Given the description of an element on the screen output the (x, y) to click on. 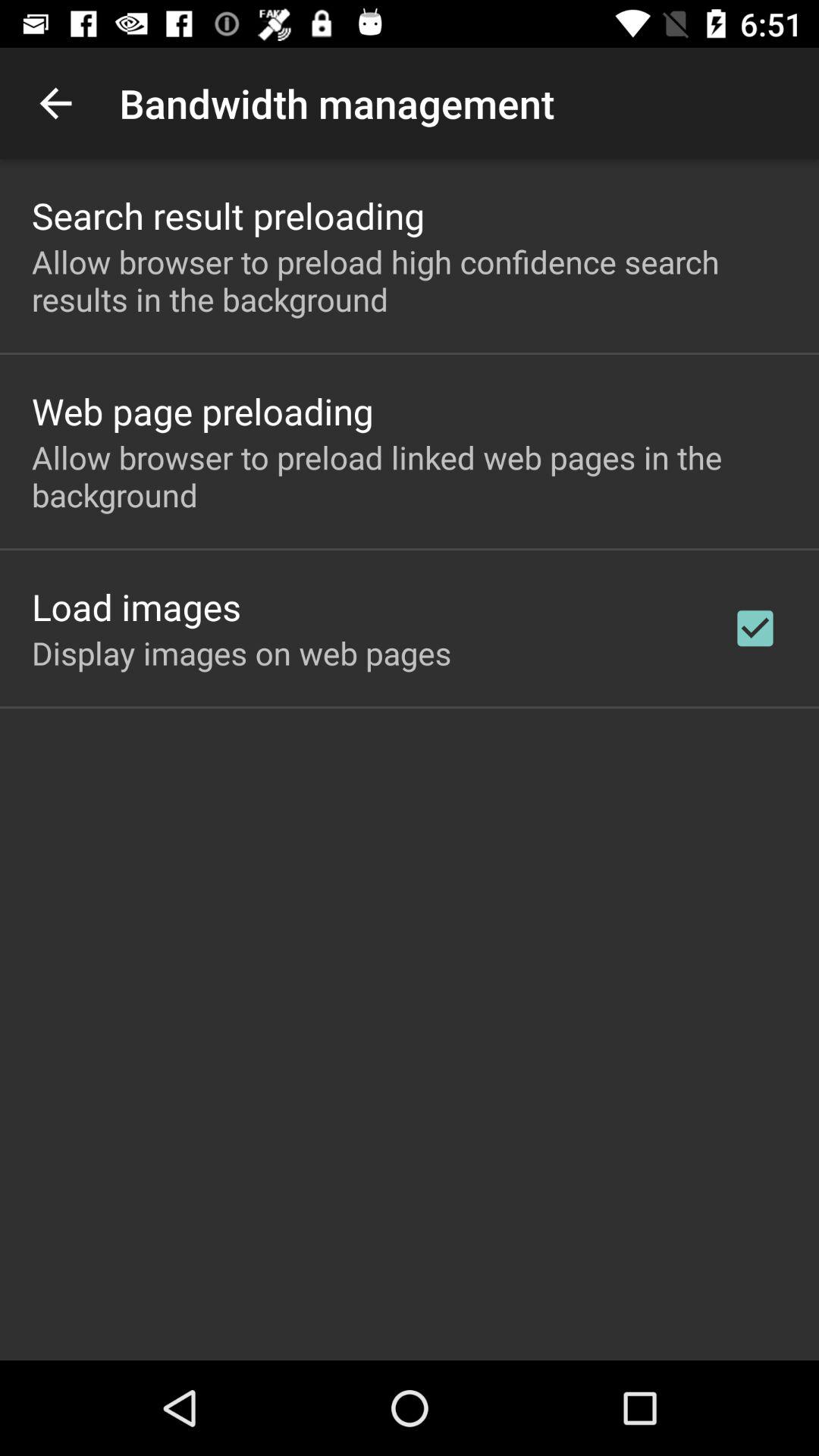
open the item below the allow browser to icon (136, 606)
